Given the description of an element on the screen output the (x, y) to click on. 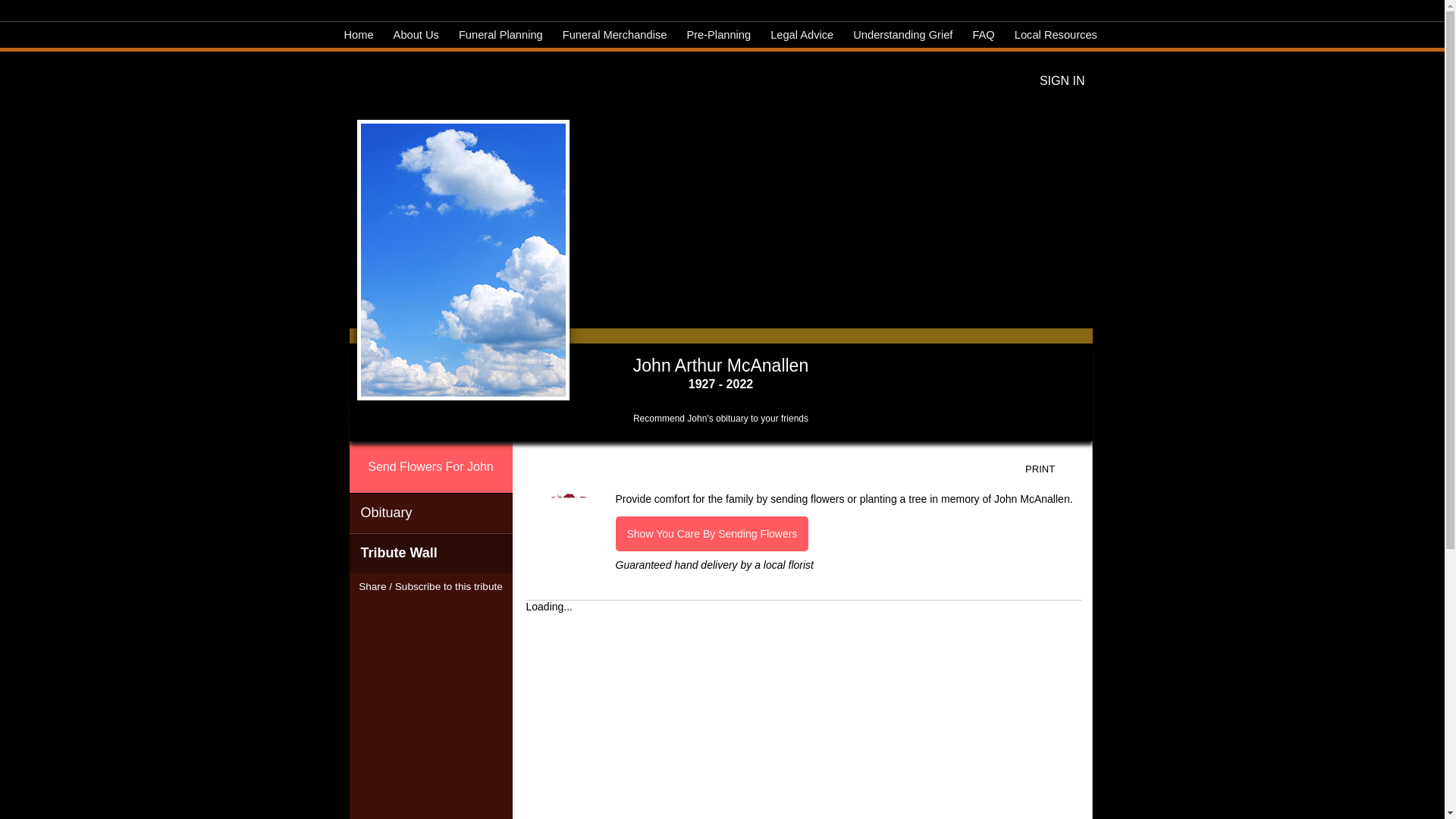
PRINT (1051, 469)
Local Resources (1056, 34)
Funeral Planning (500, 34)
FAQ (983, 34)
Obituary (430, 512)
About Us (416, 34)
Facebook (402, 611)
Understanding Grief (902, 34)
Home (358, 34)
Funeral Merchandise (614, 34)
